Given the description of an element on the screen output the (x, y) to click on. 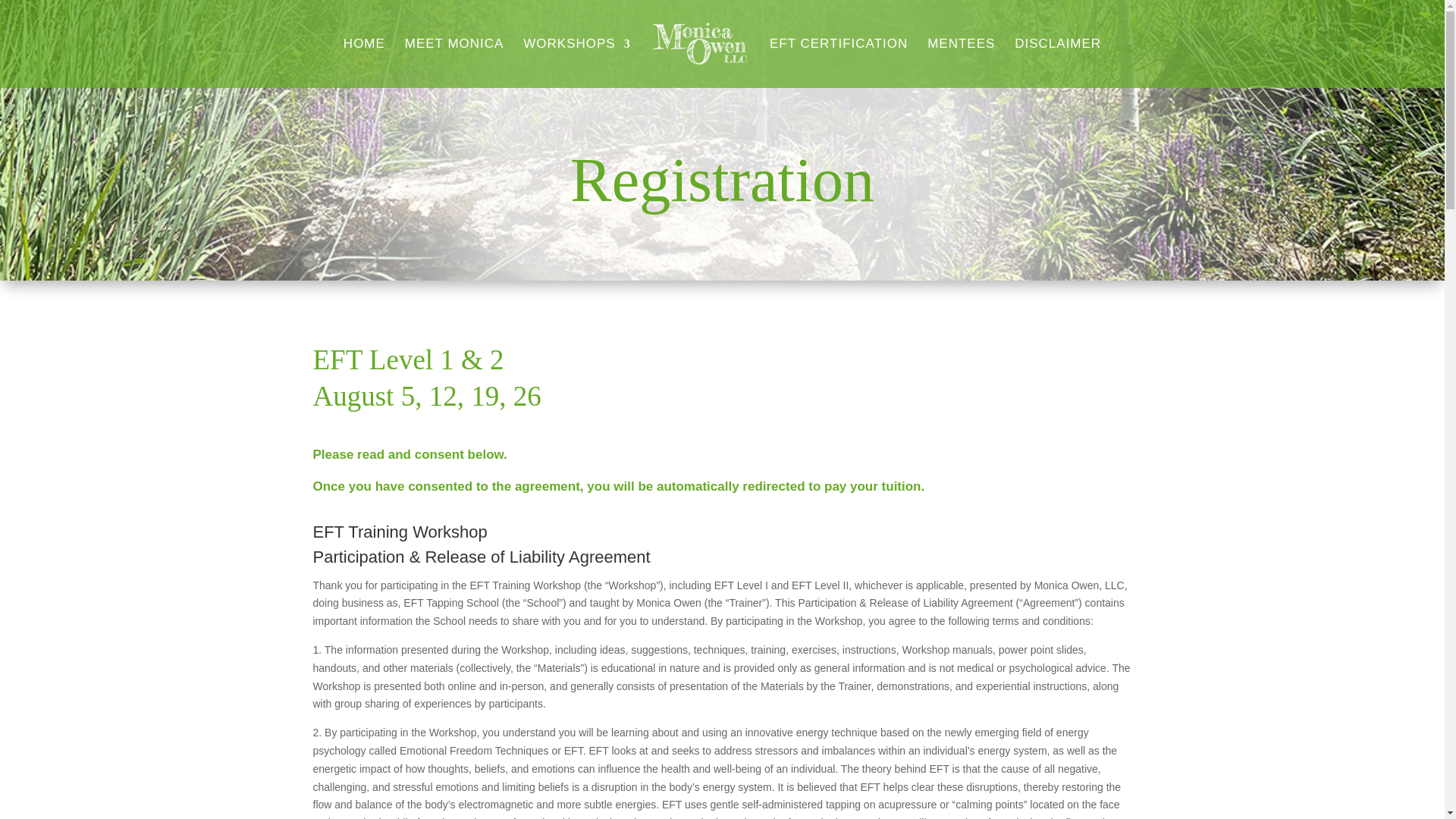
DISCLAIMER (1057, 62)
EFT CERTIFICATION (838, 62)
MENTEES (960, 62)
MEET MONICA (453, 62)
WORKSHOPS (576, 62)
